Given the description of an element on the screen output the (x, y) to click on. 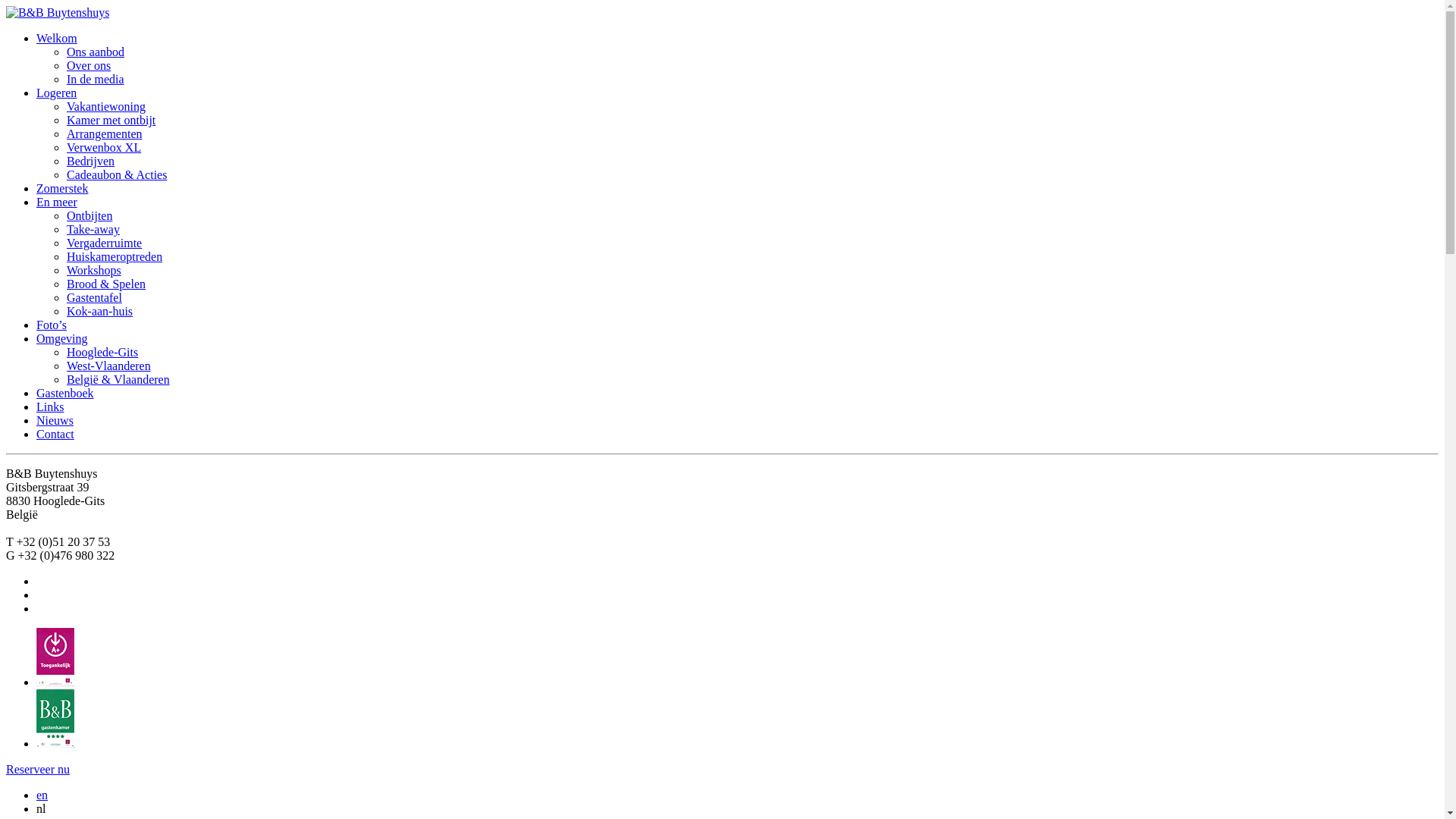
Brood & Spelen Element type: text (105, 283)
Hooglede-Gits Element type: text (102, 351)
Zomerstek Element type: text (61, 188)
En meer Element type: text (56, 201)
Bedrijven Element type: text (90, 160)
Arrangementen Element type: text (104, 133)
Reserveer nu Element type: text (37, 768)
In de media Element type: text (95, 78)
Gastenkamers Element type: hover (55, 743)
Ontbijten Element type: text (89, 215)
Take-away Element type: text (92, 228)
Vergaderruimte Element type: text (103, 242)
Huiskameroptreden Element type: text (114, 256)
Contact Element type: text (55, 433)
Ons aanbod Element type: text (95, 51)
en Element type: text (41, 794)
Omgeving Element type: text (61, 338)
B&B Buytenshuys Element type: hover (57, 12)
Cadeaubon & Acties Element type: text (116, 174)
Logeren Element type: text (56, 92)
B&B Buytenshuys -  Element type: hover (57, 12)
Links Element type: text (49, 406)
Kamer met ontbijt Element type: text (110, 119)
Kok-aan-huis Element type: text (99, 310)
Gastenboek Element type: text (65, 392)
Gastentafel Element type: text (94, 297)
Nieuws Element type: text (54, 420)
Vakantiewoning Element type: text (105, 106)
West-Vlaanderen Element type: text (108, 365)
Workshops Element type: text (93, 269)
Over ons Element type: text (88, 65)
Toegankelijkheidslabel A+ Element type: hover (55, 681)
Verwenbox XL Element type: text (103, 147)
Welkom Element type: text (56, 37)
